Given the description of an element on the screen output the (x, y) to click on. 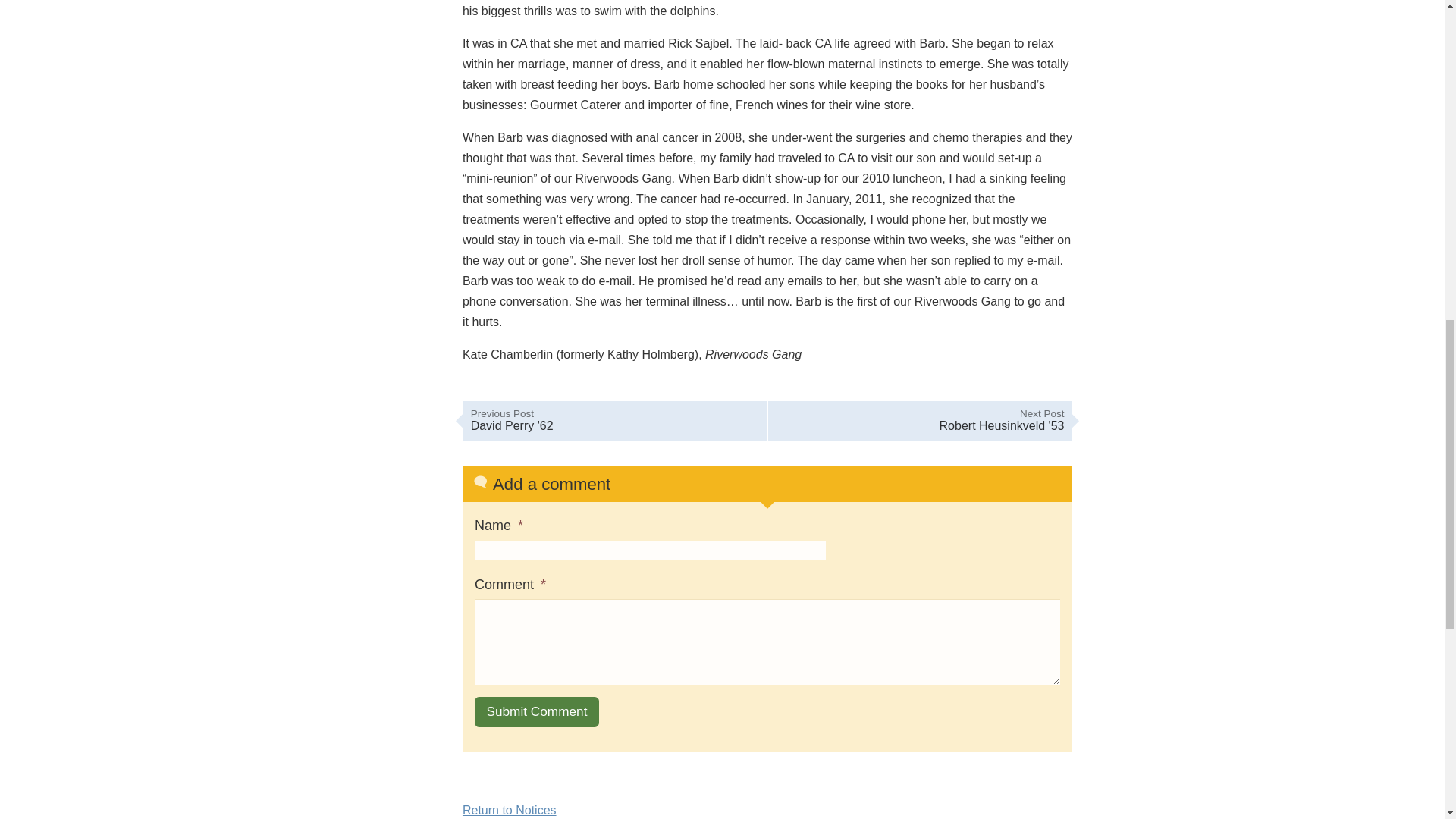
Return to Notices (509, 809)
Submit Comment (615, 421)
Submit Comment (536, 711)
